Given the description of an element on the screen output the (x, y) to click on. 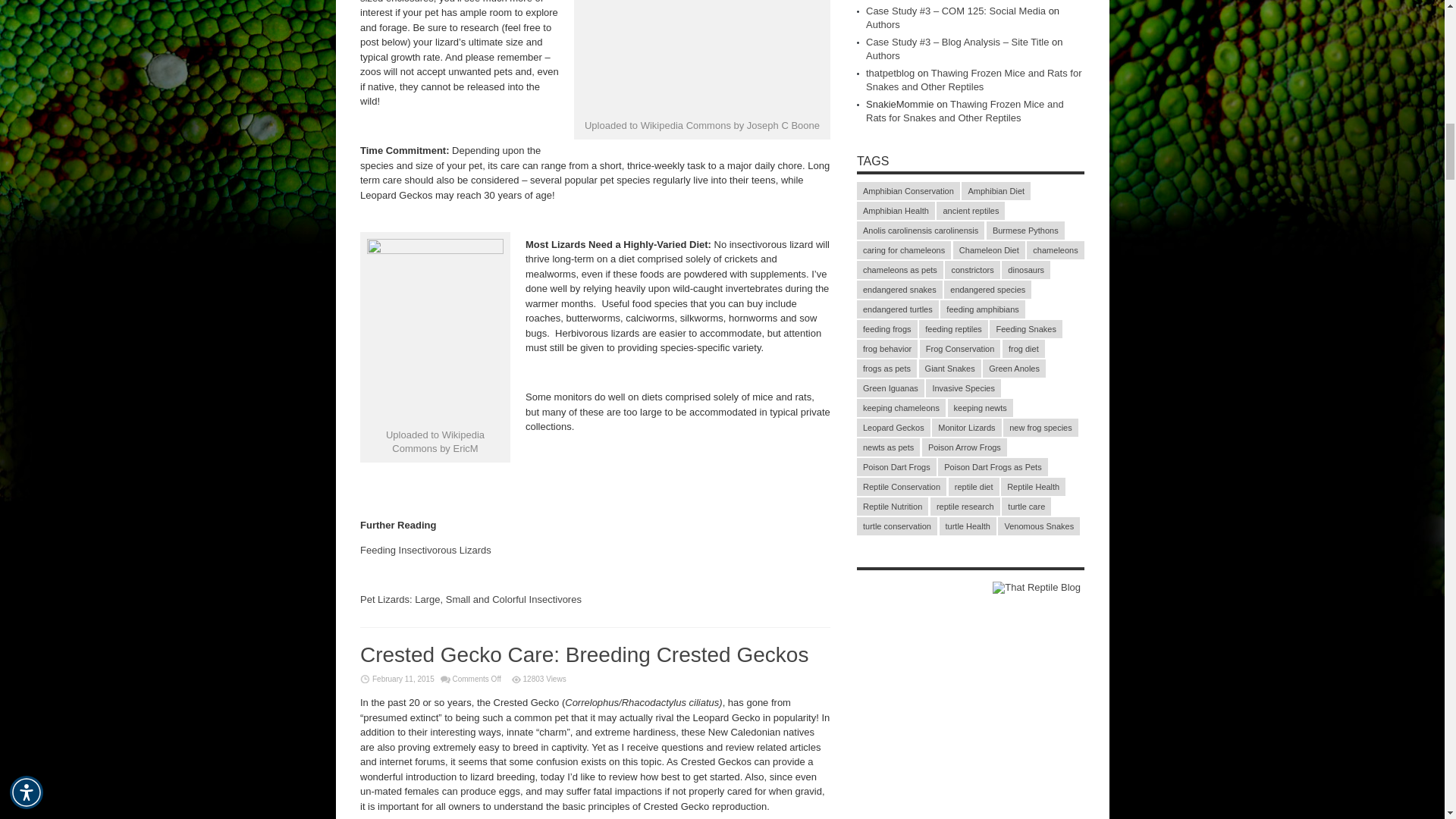
Permalink to Crested Gecko Care: Breeding Crested Geckos (583, 654)
